Given the description of an element on the screen output the (x, y) to click on. 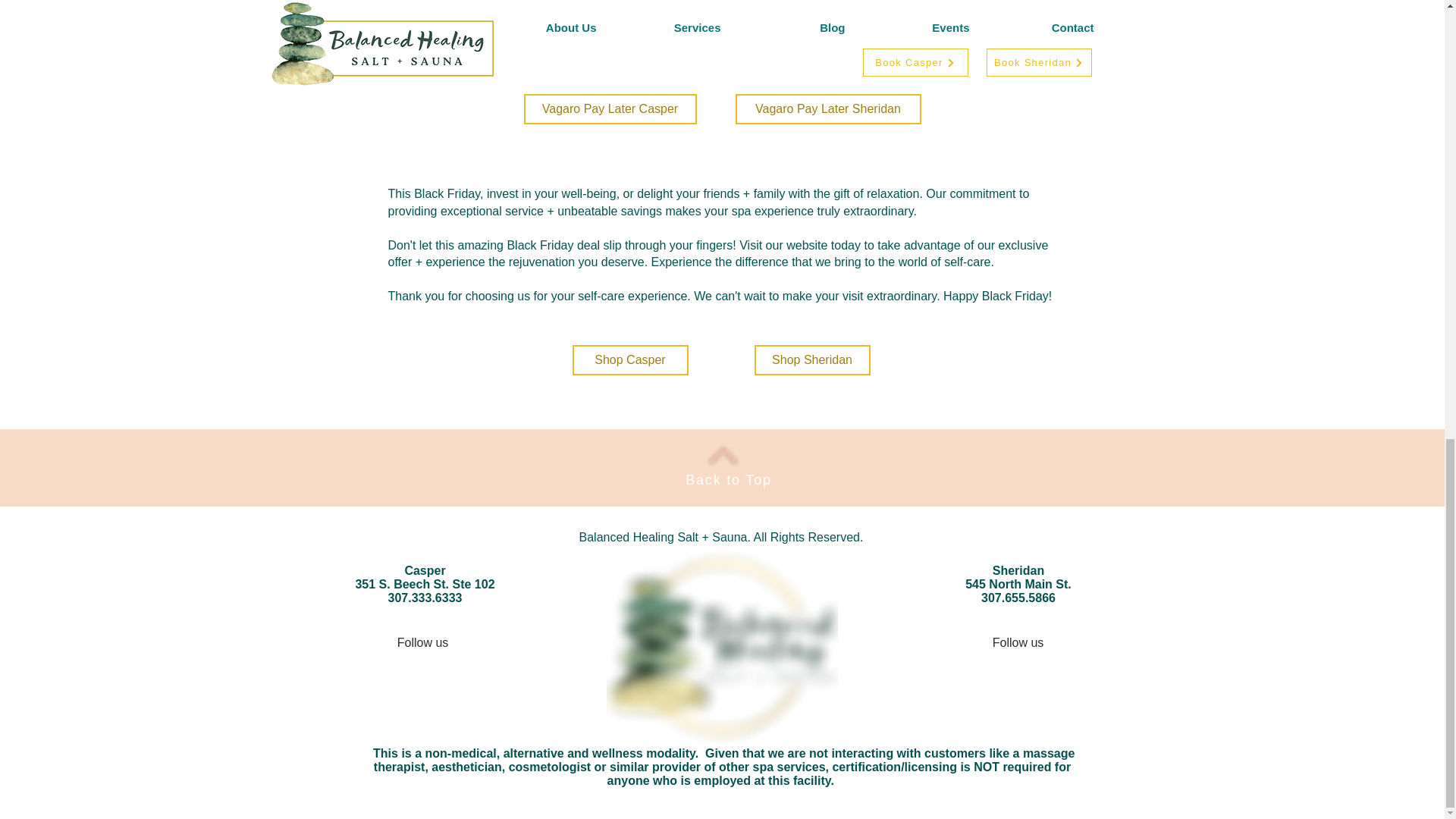
Back to Top (728, 479)
Shop Casper (629, 359)
Vagaro Pay Later Casper (608, 109)
Shop Sheridan (811, 359)
Vagaro Pay Later Sheridan (828, 109)
